Given the description of an element on the screen output the (x, y) to click on. 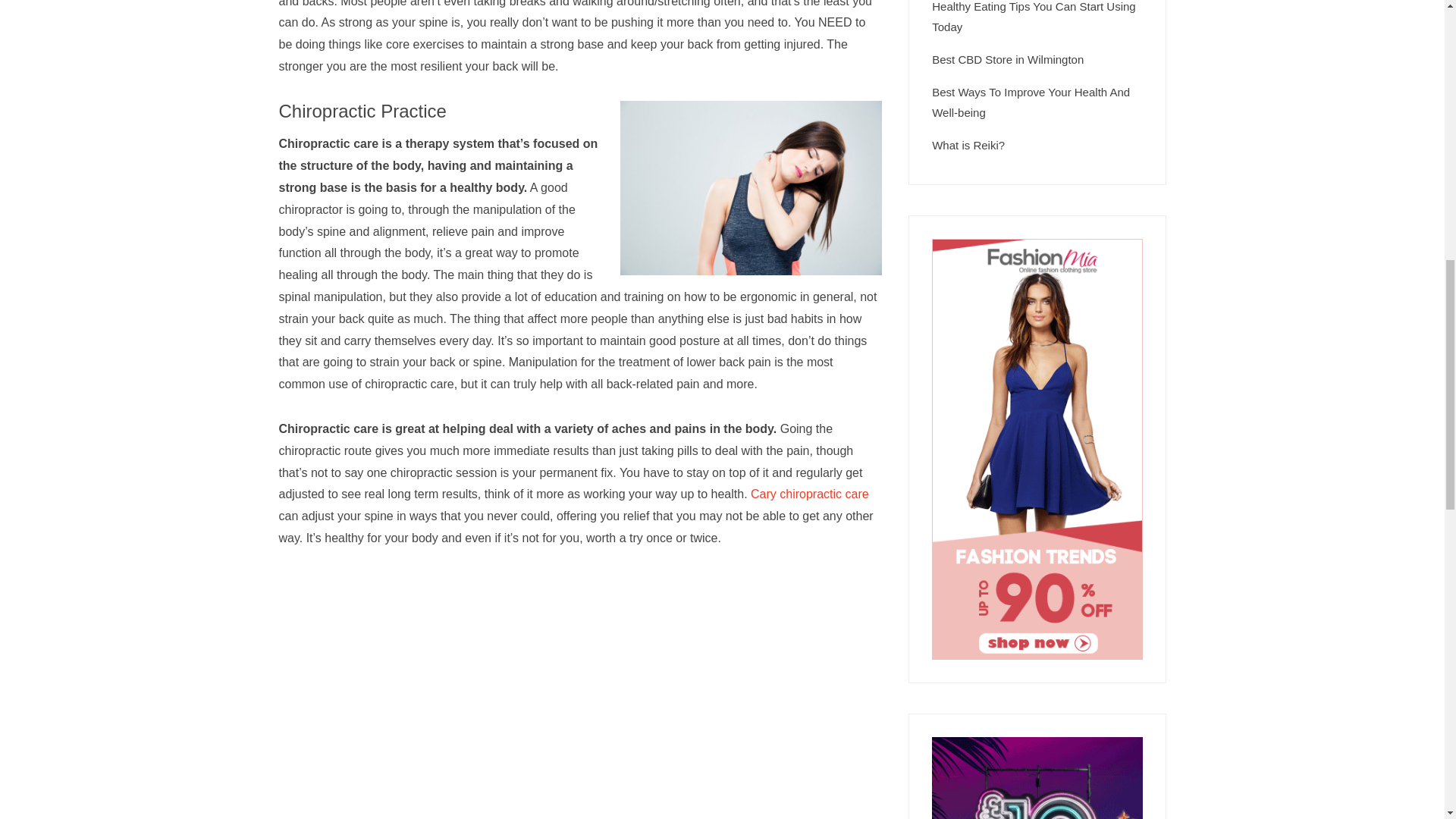
What is Reiki? (967, 144)
Best CBD Store in Wilmington (1007, 59)
Cary chiropractic care (810, 493)
Healthy Eating Tips You Can Start Using Today (1033, 16)
Best Ways To Improve Your Health And Well-being (1030, 101)
